Given the description of an element on the screen output the (x, y) to click on. 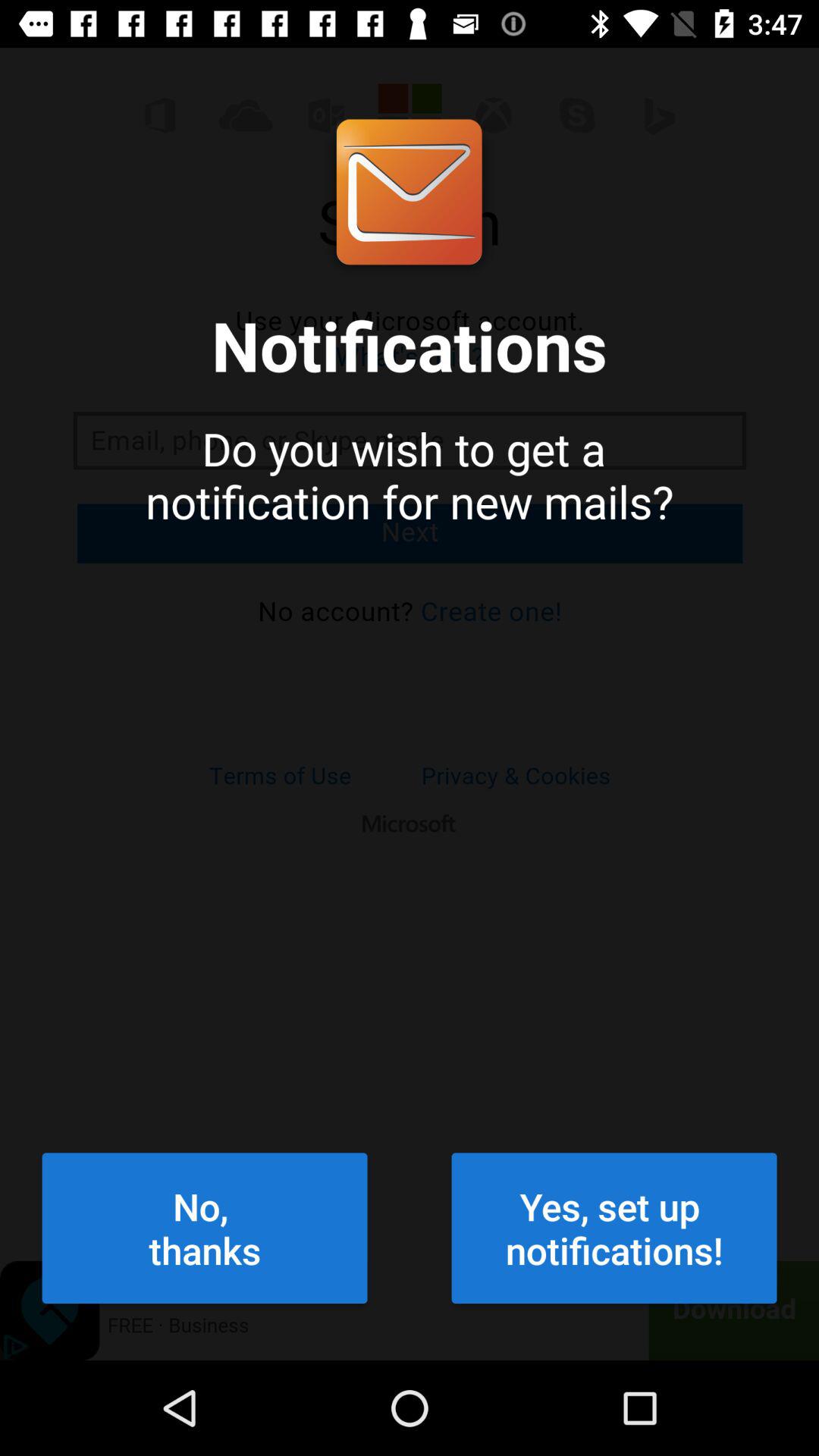
turn on the icon next to the no, 
thanks icon (613, 1227)
